Given the description of an element on the screen output the (x, y) to click on. 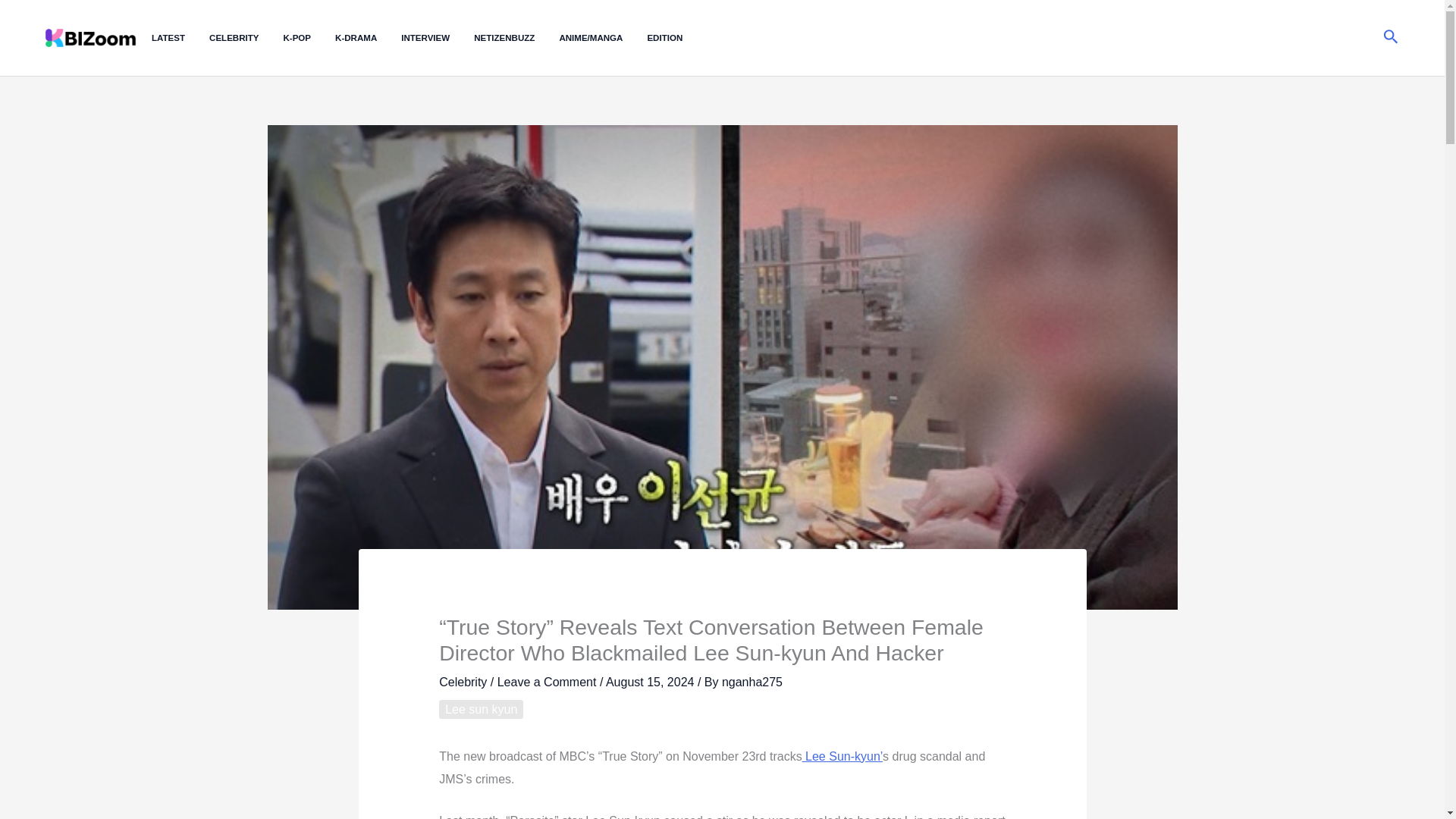
Lee sun kyun (480, 709)
INTERVIEW (437, 38)
Celebrity (462, 681)
View all posts by nganha275 (752, 681)
Leave a Comment (546, 681)
NETIZENBUZZ (516, 38)
CELEBRITY (245, 38)
nganha275 (752, 681)
